Given the description of an element on the screen output the (x, y) to click on. 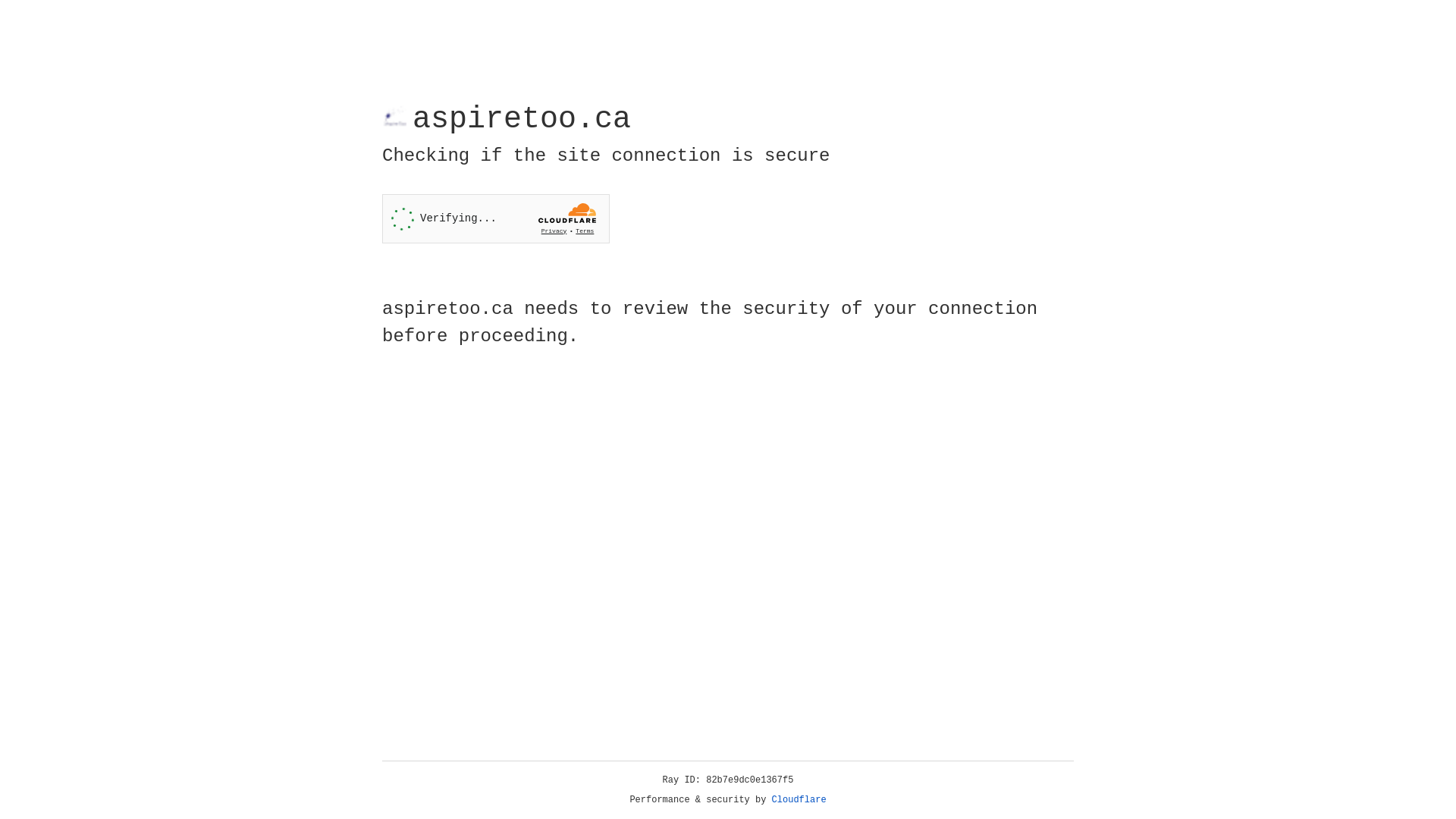
Cloudflare Element type: text (798, 799)
Widget containing a Cloudflare security challenge Element type: hover (495, 218)
